Given the description of an element on the screen output the (x, y) to click on. 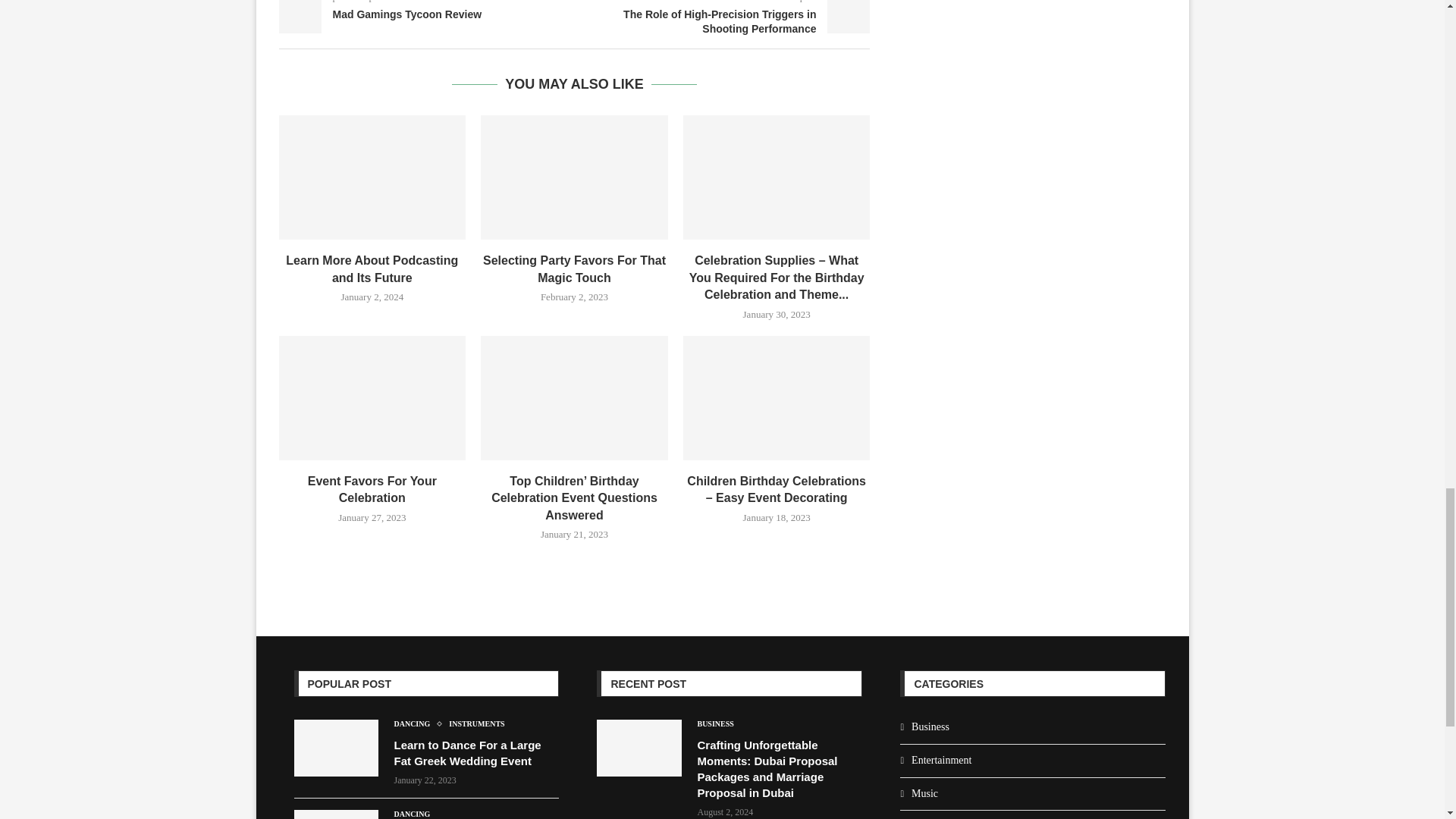
Event Favors For Your Celebration (372, 397)
Learn More About Podcasting and Its Future (372, 177)
Selecting Party Favors For That Magic Touch (574, 177)
